Given the description of an element on the screen output the (x, y) to click on. 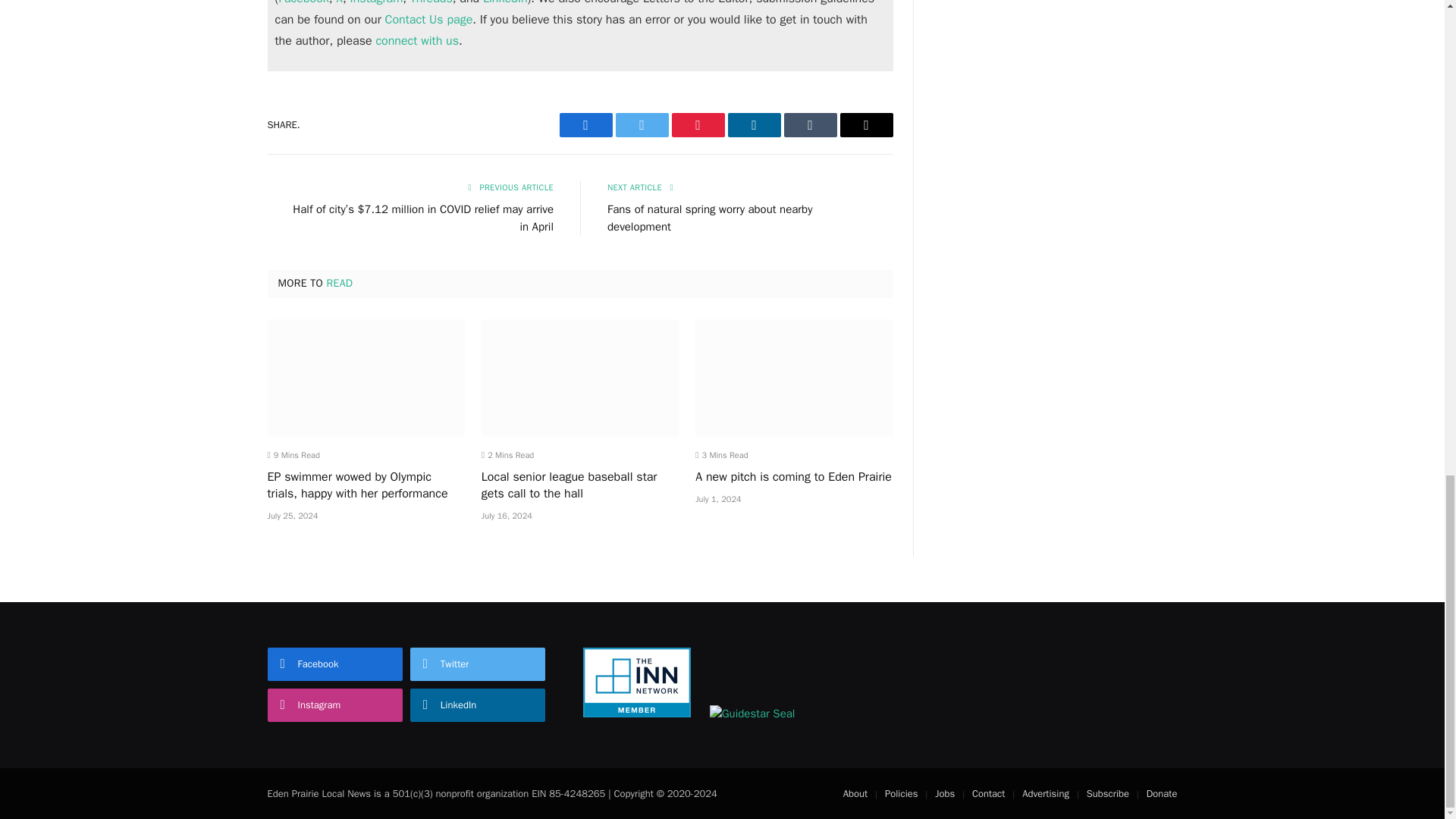
Share via Email (866, 125)
Share on Facebook (585, 125)
Share on Pinterest (698, 125)
Share on Tumblr (810, 125)
Share on LinkedIn (754, 125)
